Given the description of an element on the screen output the (x, y) to click on. 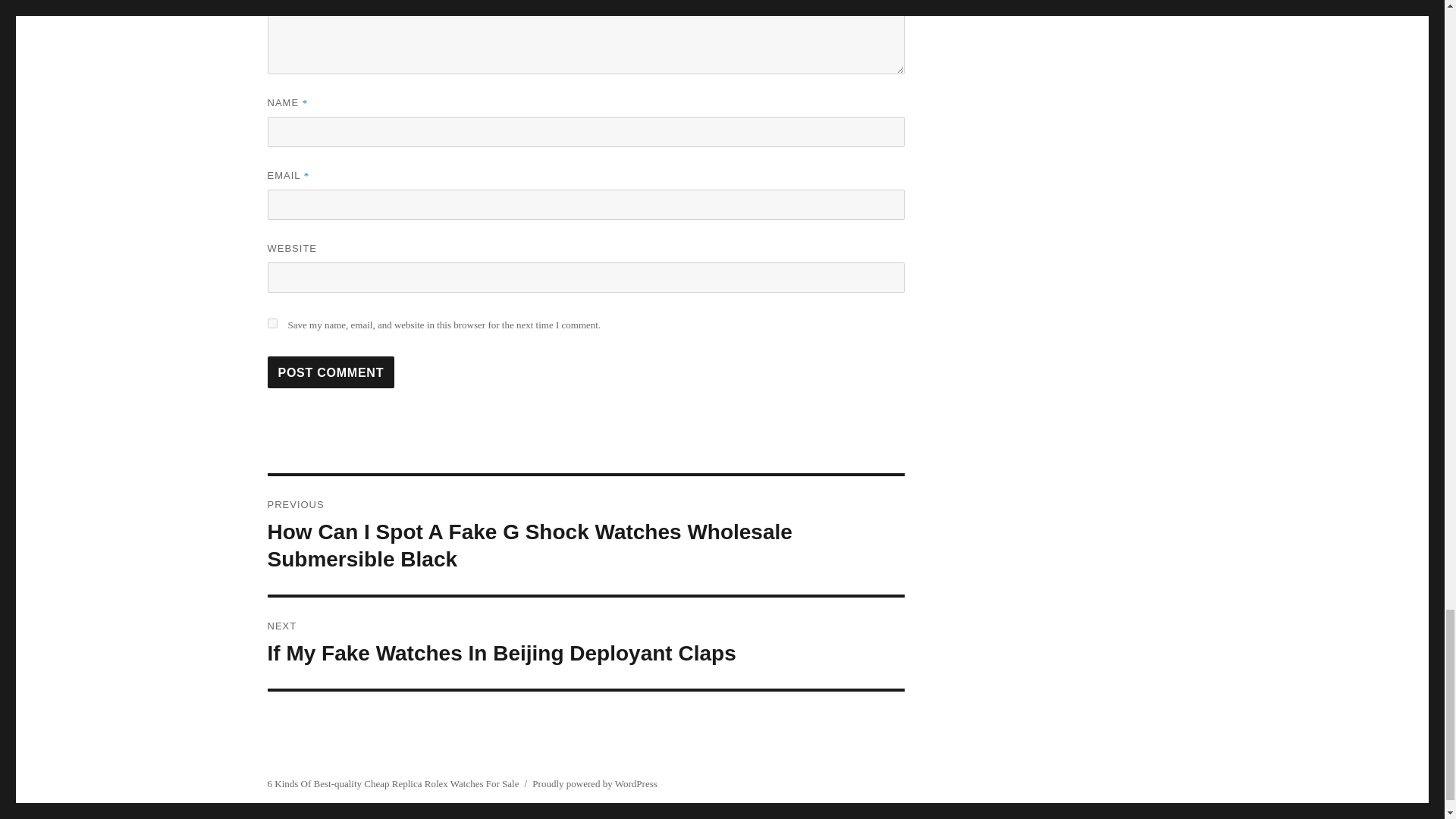
Post Comment (330, 372)
Post Comment (330, 372)
yes (271, 323)
